Given the description of an element on the screen output the (x, y) to click on. 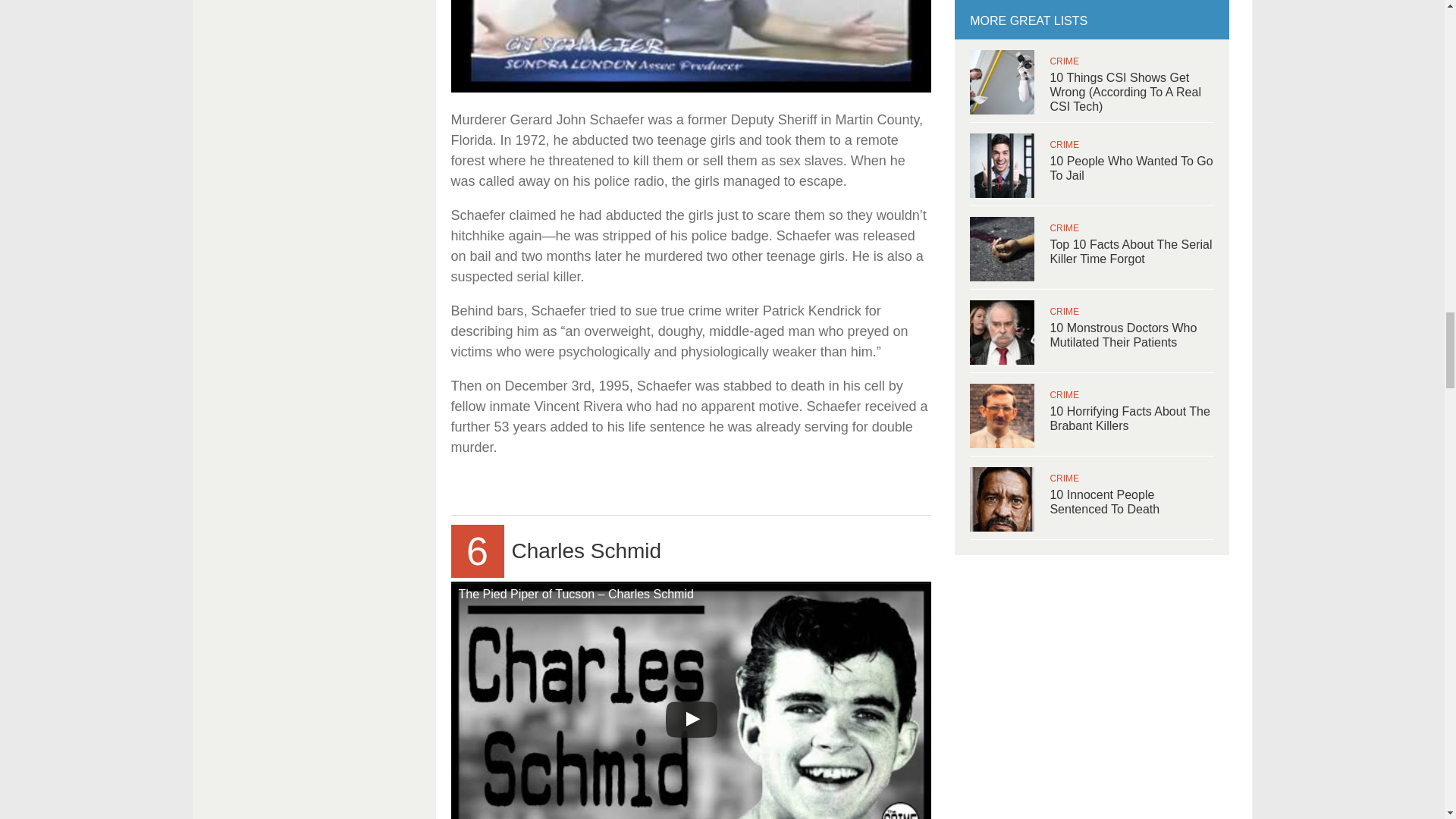
Serial Killer Gerard John Schaefer Interview (689, 46)
